Given the description of an element on the screen output the (x, y) to click on. 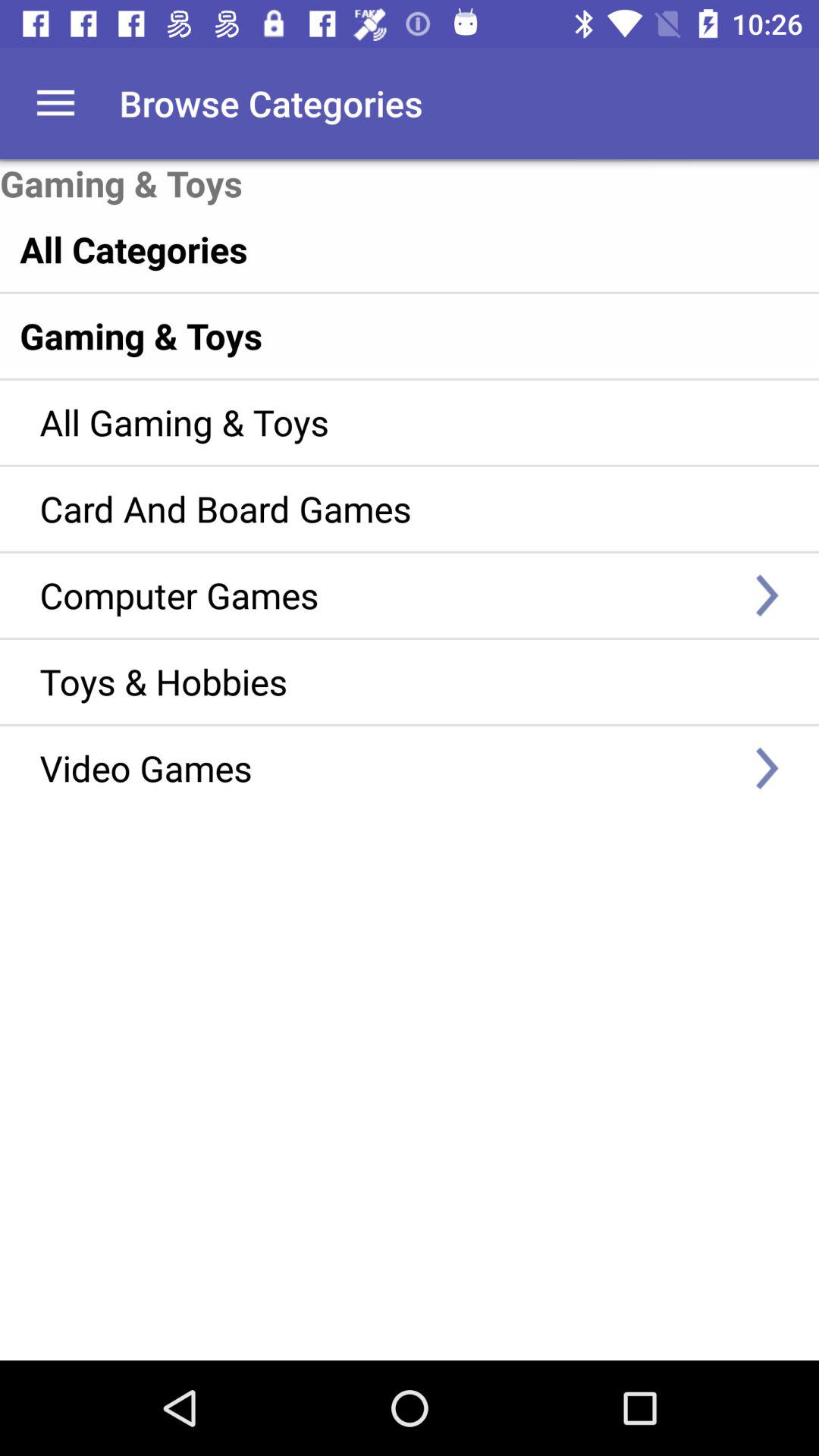
open the toys & hobbies item (387, 681)
